Given the description of an element on the screen output the (x, y) to click on. 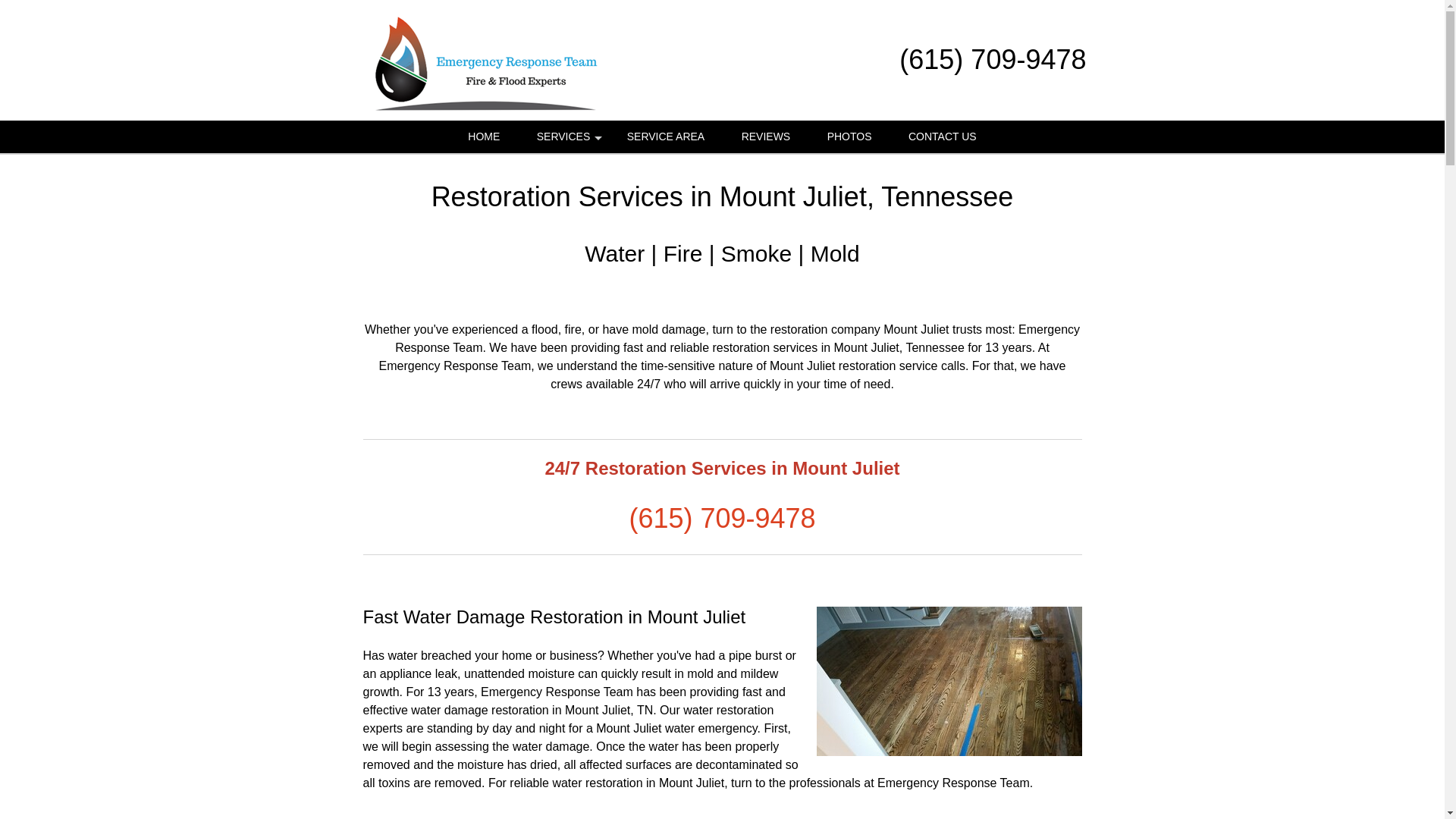
CONTACT US (941, 136)
REVIEWS (766, 136)
PHOTOS (849, 136)
HOME (483, 136)
SERVICE AREA (665, 136)
